Given the description of an element on the screen output the (x, y) to click on. 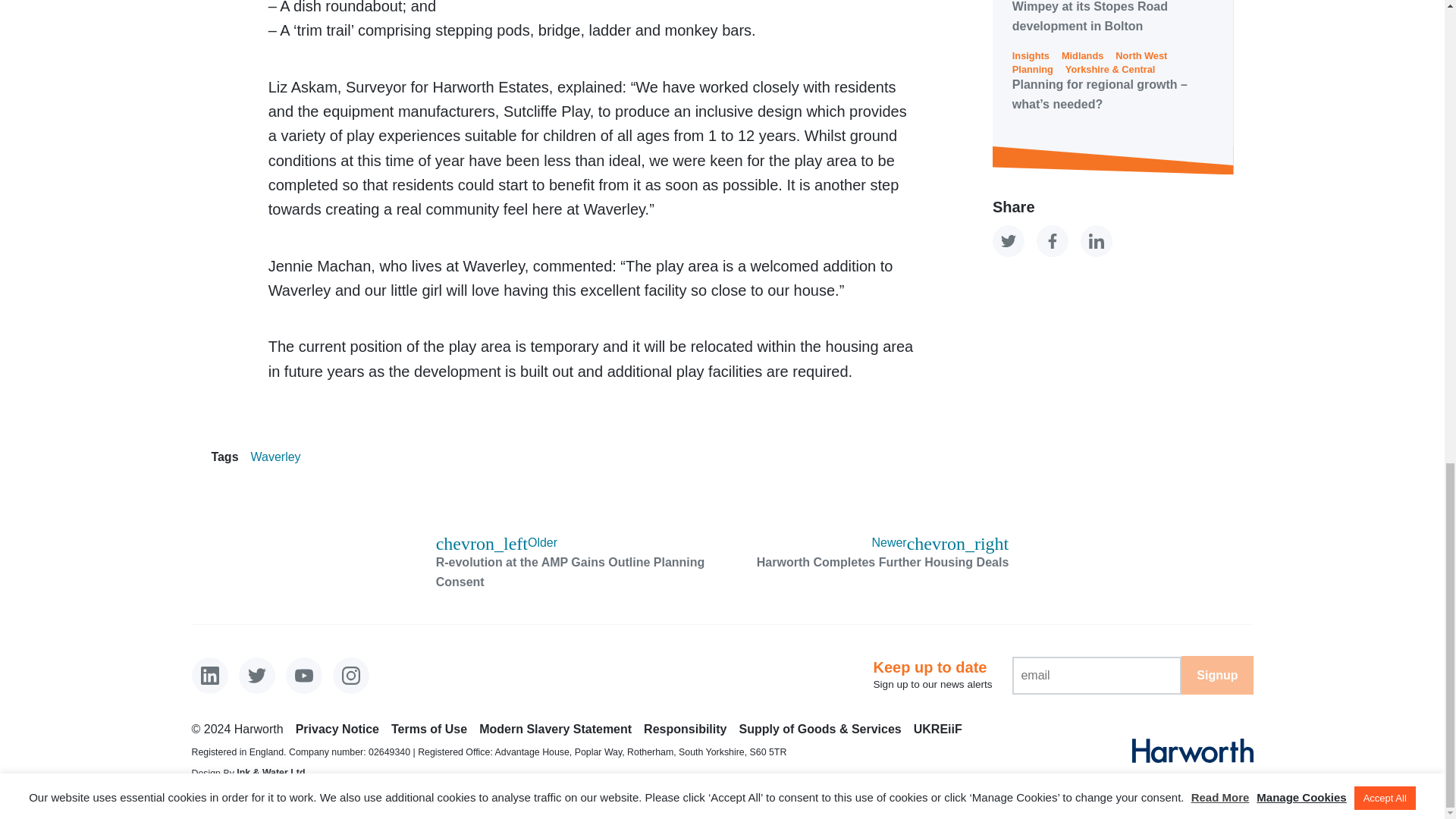
Twitter (256, 675)
Share this (1052, 241)
YouTube (303, 675)
Share this (1008, 241)
LinkedIn (208, 675)
Share this (1096, 241)
Instagram (351, 675)
